Given the description of an element on the screen output the (x, y) to click on. 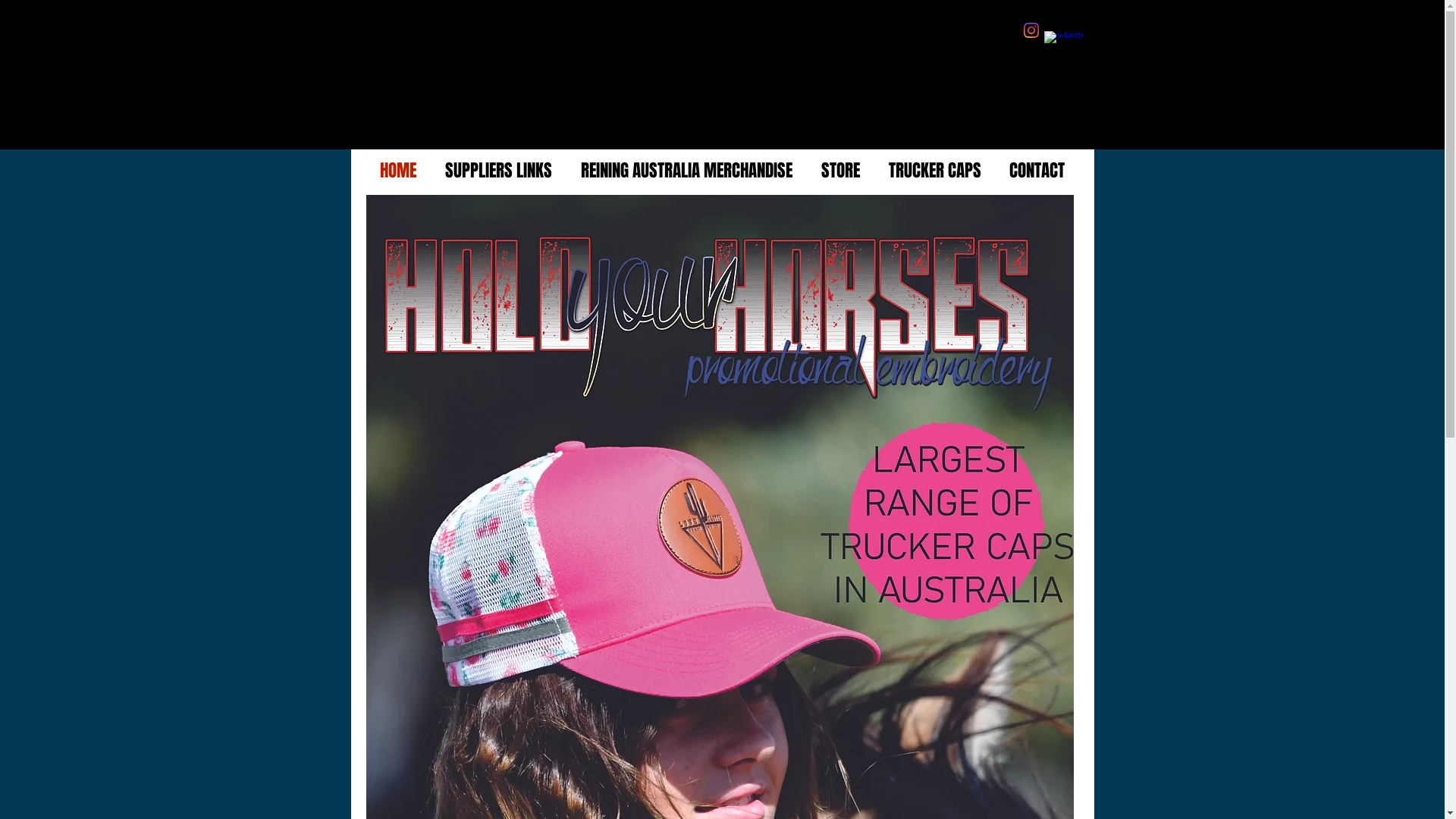
REINING AUSTRALIA MERCHANDISE Element type: text (685, 170)
HOME Element type: text (397, 170)
CONTACT Element type: text (1036, 170)
TRUCKER CAPS Element type: text (933, 170)
STORE Element type: text (840, 170)
SUPPLIERS LINKS Element type: text (498, 170)
